Given the description of an element on the screen output the (x, y) to click on. 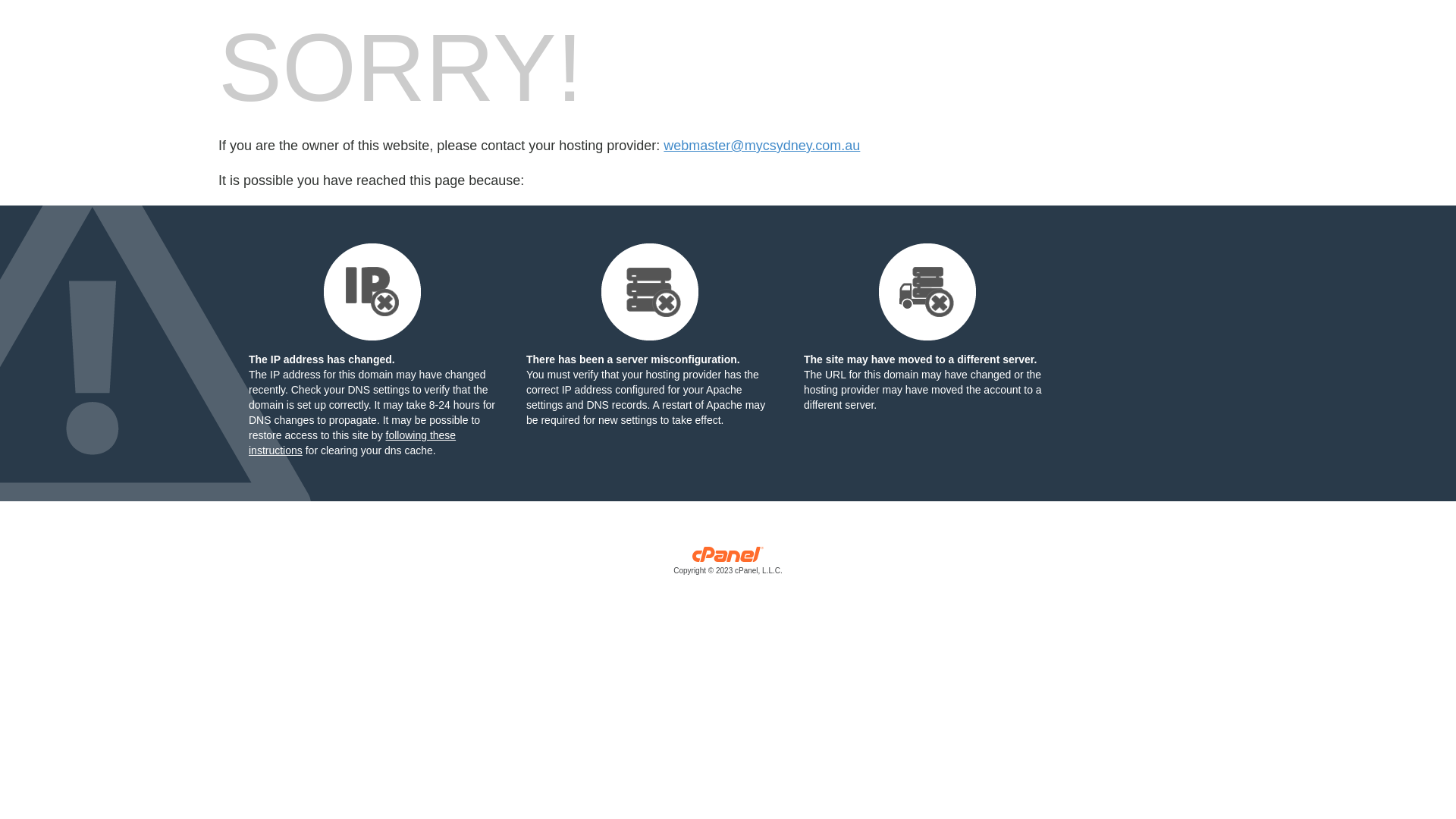
following these instructions Element type: text (351, 442)
webmaster@mycsydney.com.au Element type: text (761, 145)
